Given the description of an element on the screen output the (x, y) to click on. 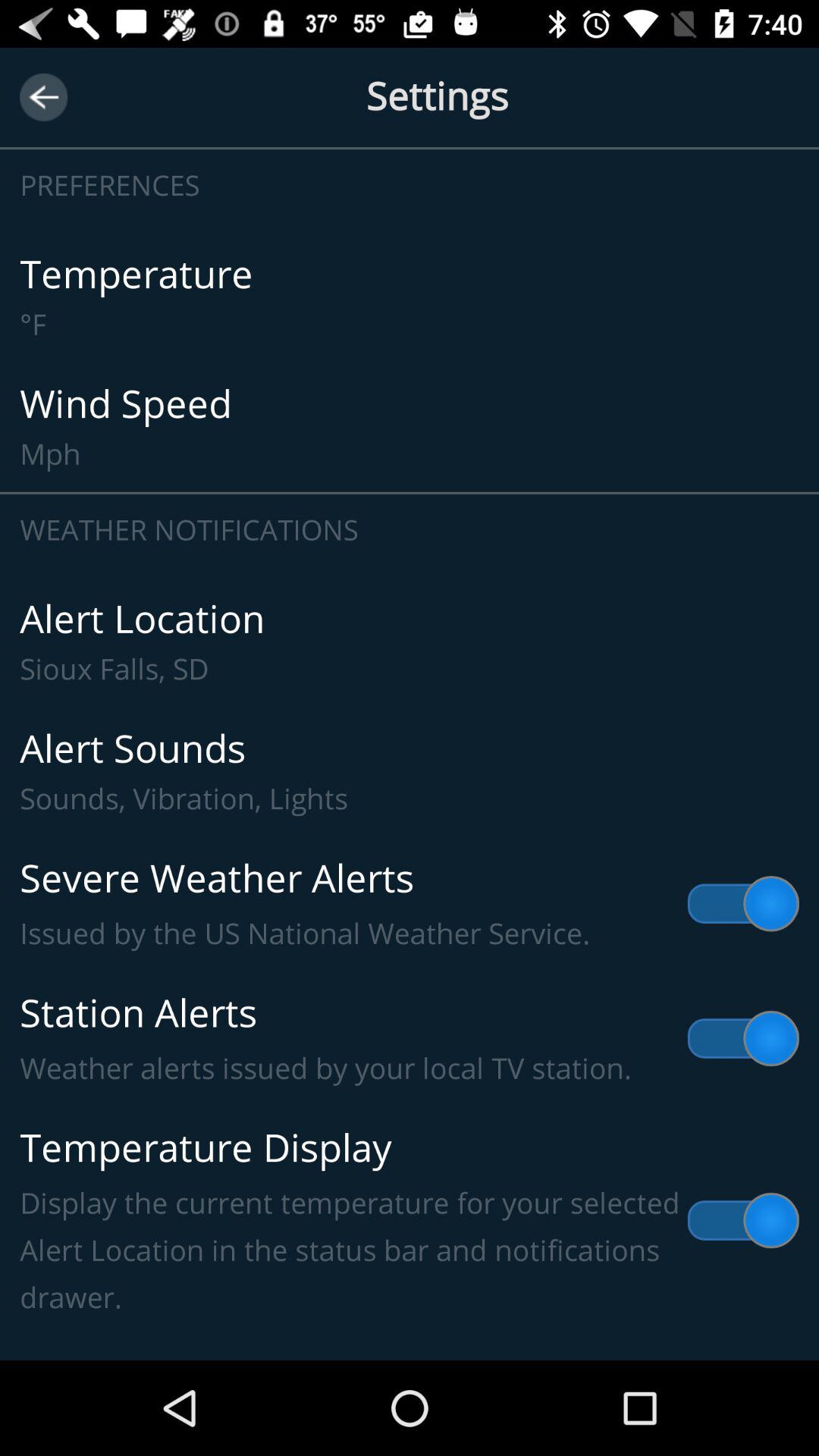
tap icon above the wind speed
mph (409, 297)
